Given the description of an element on the screen output the (x, y) to click on. 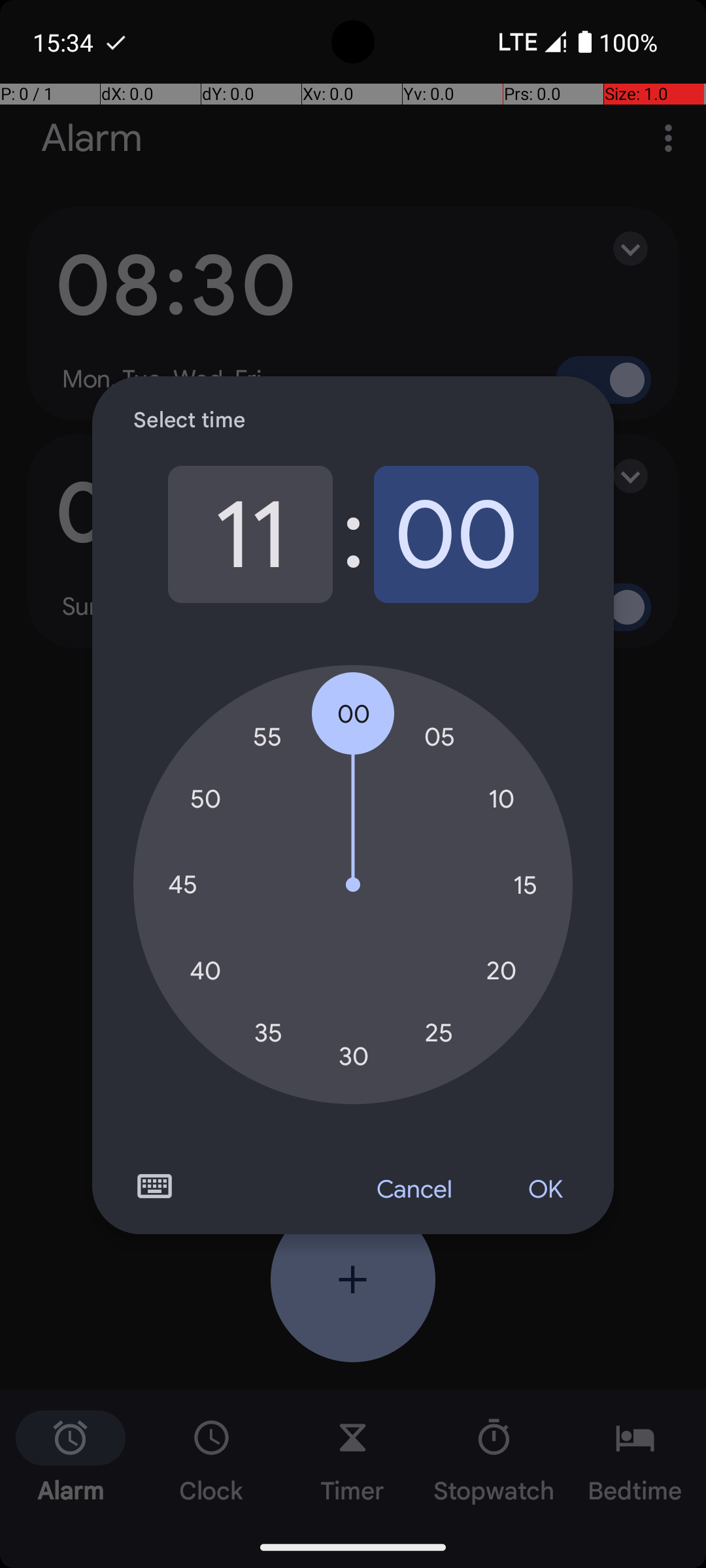
Contacts notification: Finished exporting contacts.vcf. Element type: android.widget.ImageView (115, 41)
